Given the description of an element on the screen output the (x, y) to click on. 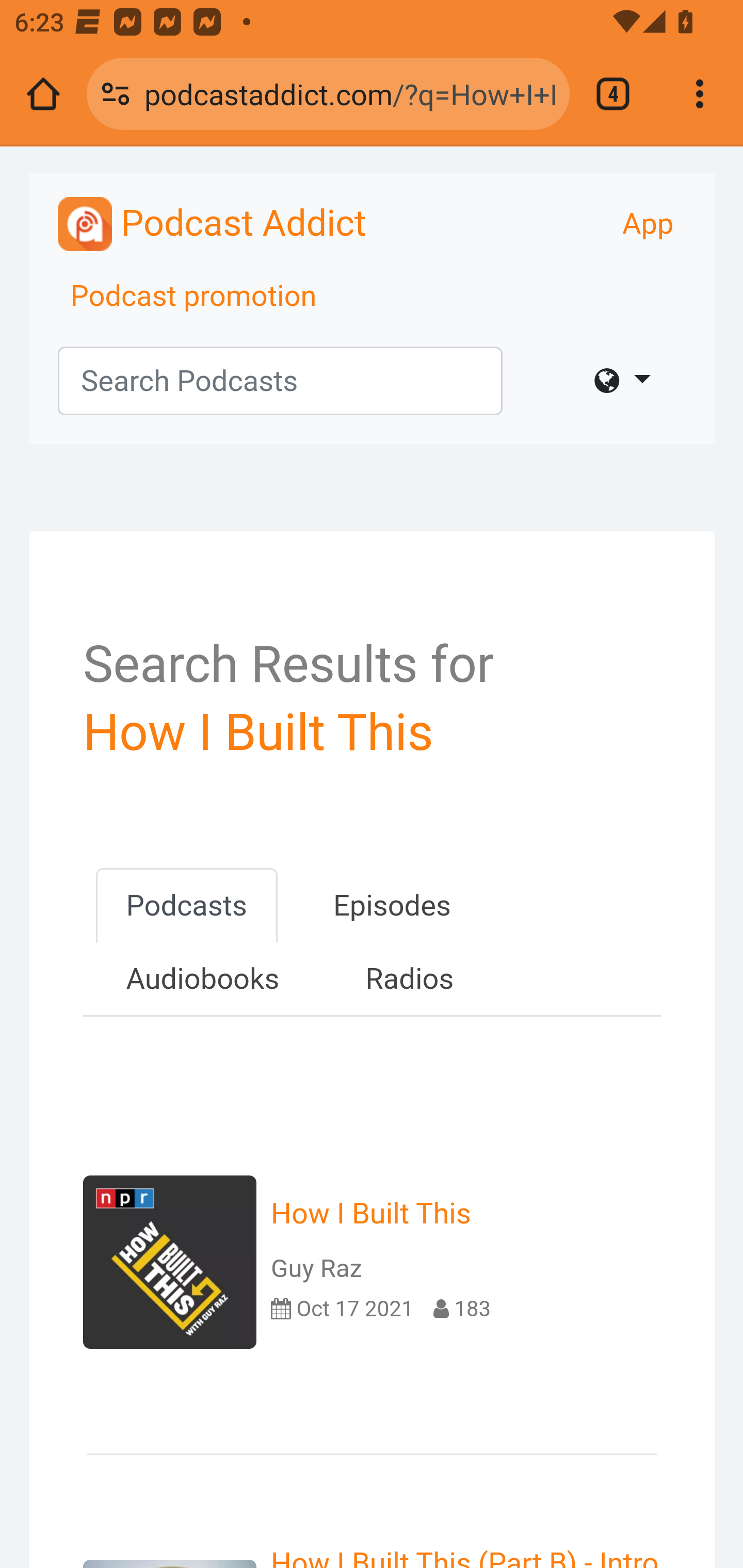
Open the home page (43, 93)
Connection is secure (115, 93)
Switch or close tabs (612, 93)
Customize and control Google Chrome (699, 93)
podcastaddict.com/?q=How+I+Built+This (349, 92)
App (648, 224)
Podcast promotion (193, 296)
 (622, 380)
Podcasts (185, 905)
Episodes (391, 905)
Audiobooks (201, 978)
Radios (409, 978)
